Given the description of an element on the screen output the (x, y) to click on. 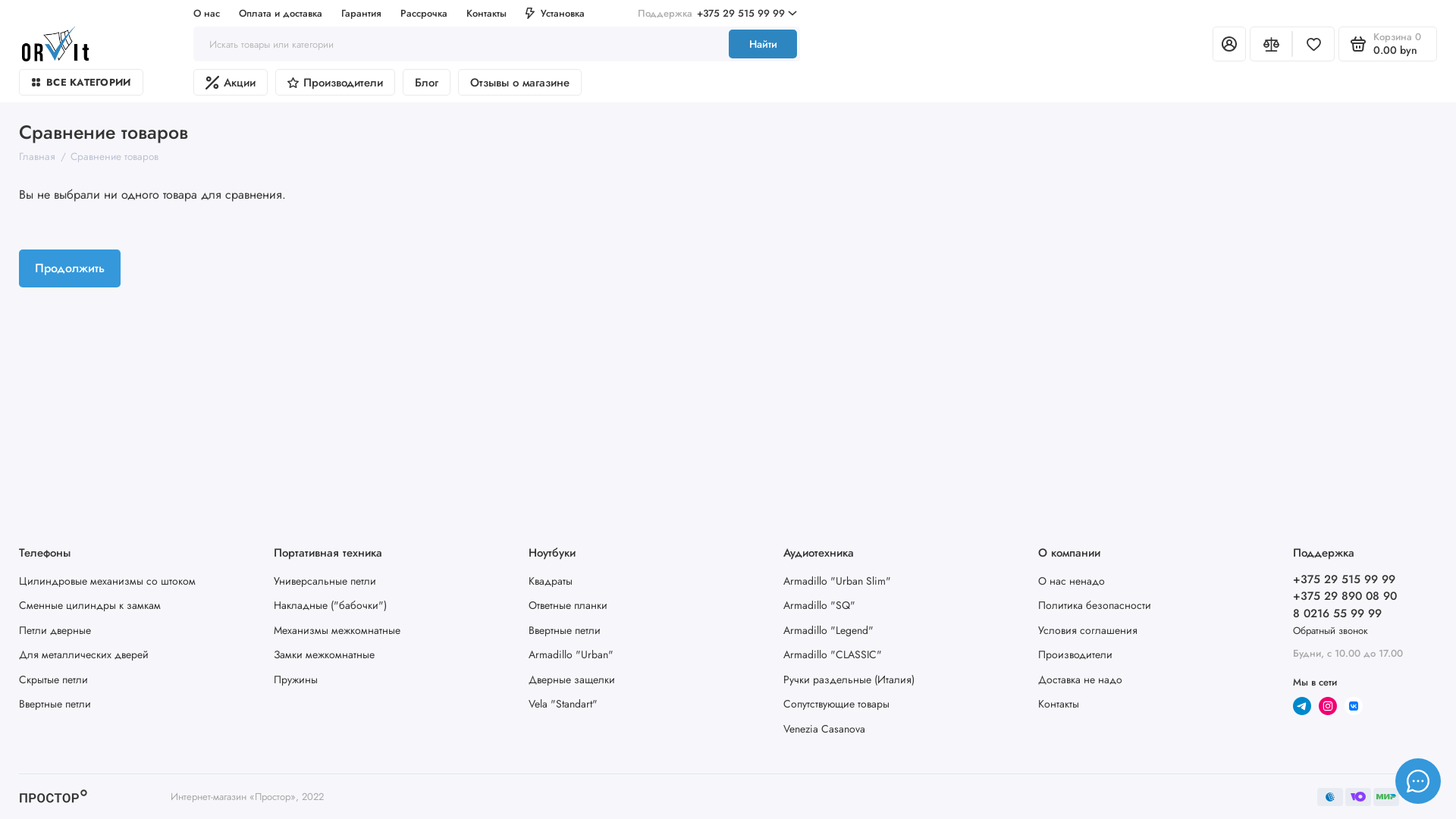
webmoney Element type: hover (1386, 796)
Armadillo "Urban Slim" Element type: text (837, 580)
Vela "Standart" Element type: text (562, 703)
+375 29 890 08 90 Element type: text (1344, 595)
Armadillo "CLASSIC" Element type: text (832, 654)
Instagram Element type: hover (1327, 705)
Vk Element type: hover (1353, 705)
Venezia Casanova Element type: text (824, 727)
Armadillo "Urban" Element type: text (570, 654)
8 0216 55 99 99 Element type: text (1336, 613)
+375 29 515 99 99 Element type: text (1343, 578)
telegram Element type: hover (1301, 705)
Armadillo "Legend" Element type: text (828, 629)
Armadillo "SQ" Element type: text (819, 604)
